Given the description of an element on the screen output the (x, y) to click on. 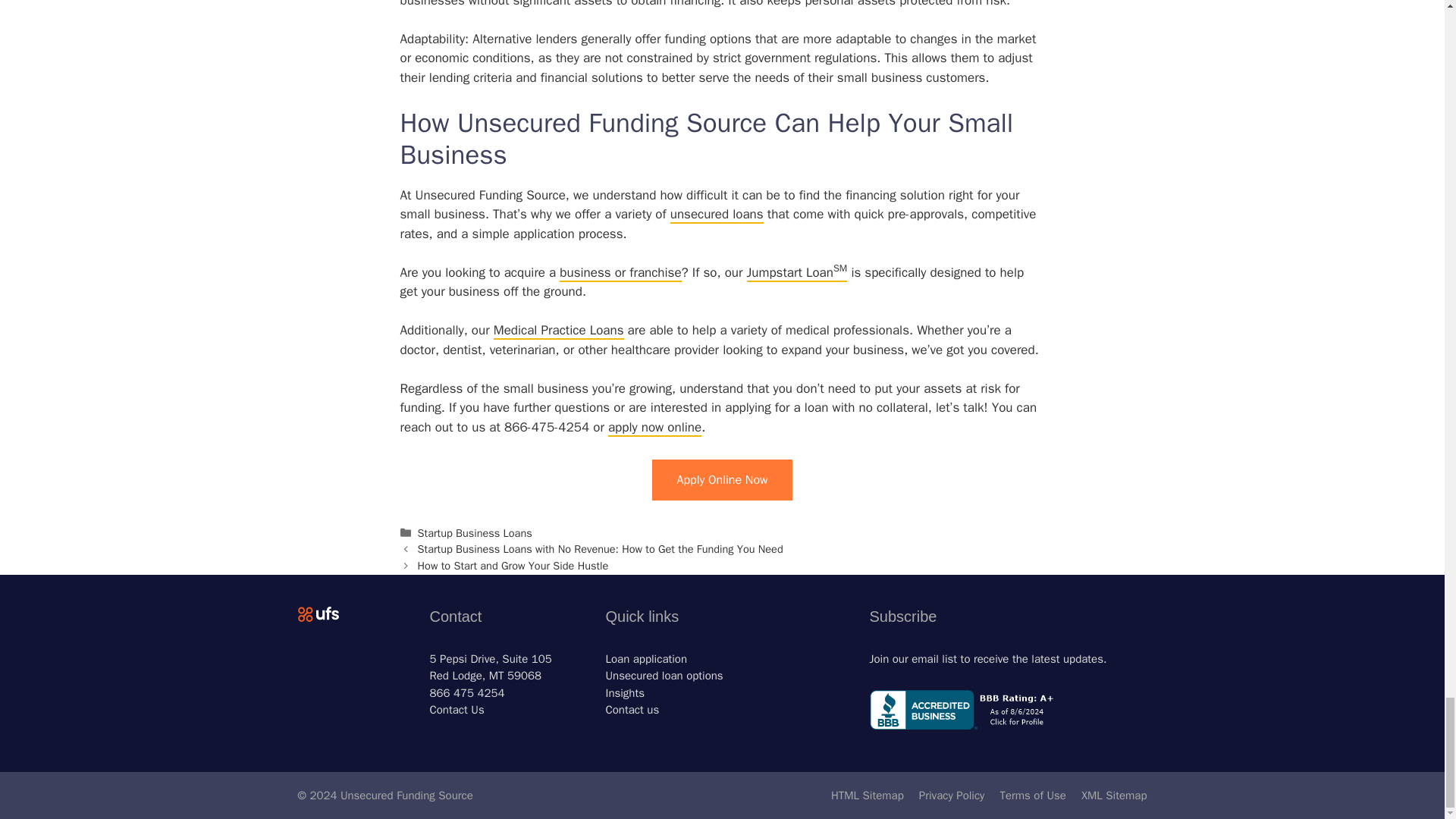
Finance blog (625, 693)
Contact us (632, 709)
Unsecured Loan (663, 675)
Loan Application (646, 658)
